Given the description of an element on the screen output the (x, y) to click on. 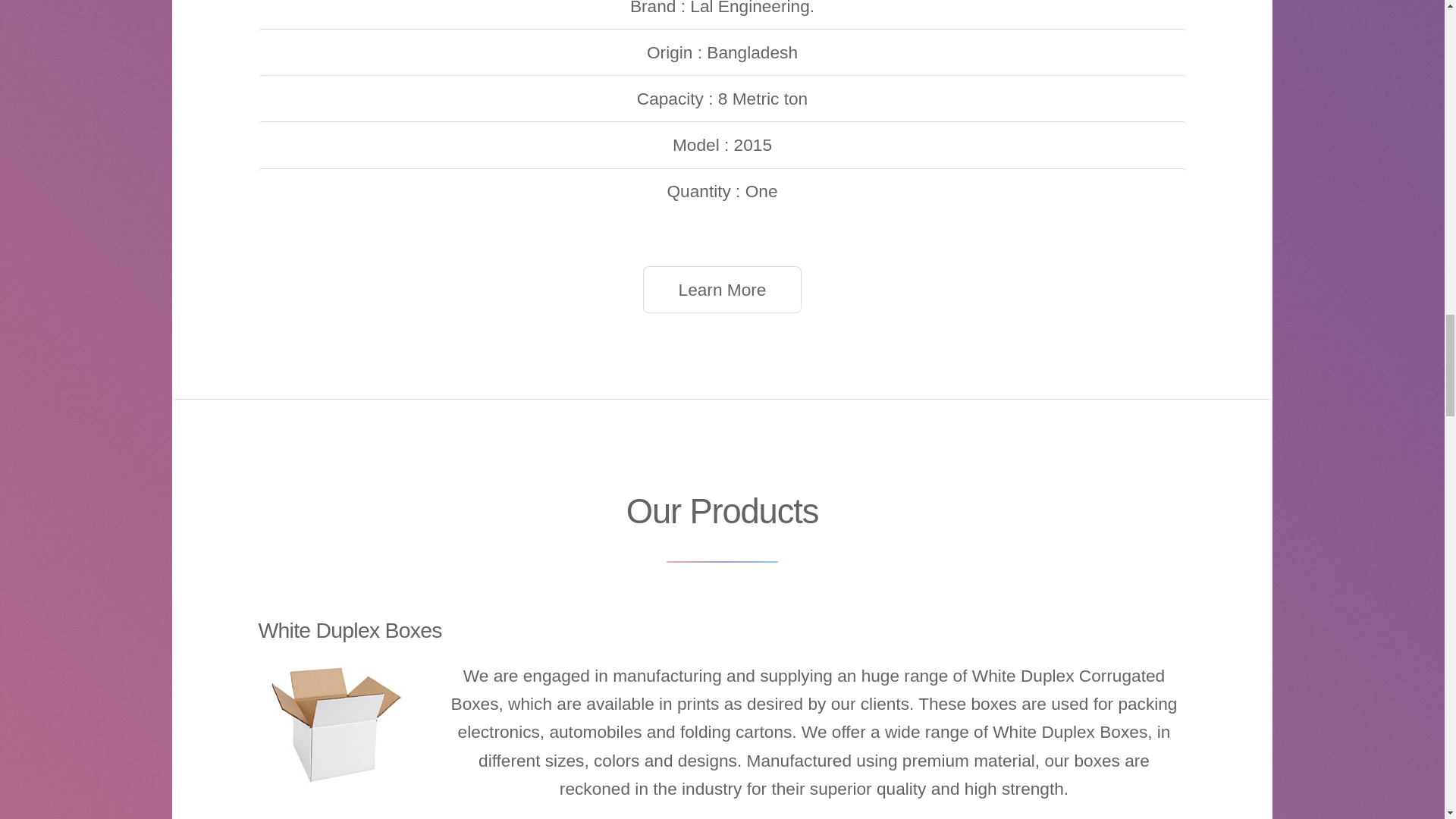
Learn More (722, 289)
